Given the description of an element on the screen output the (x, y) to click on. 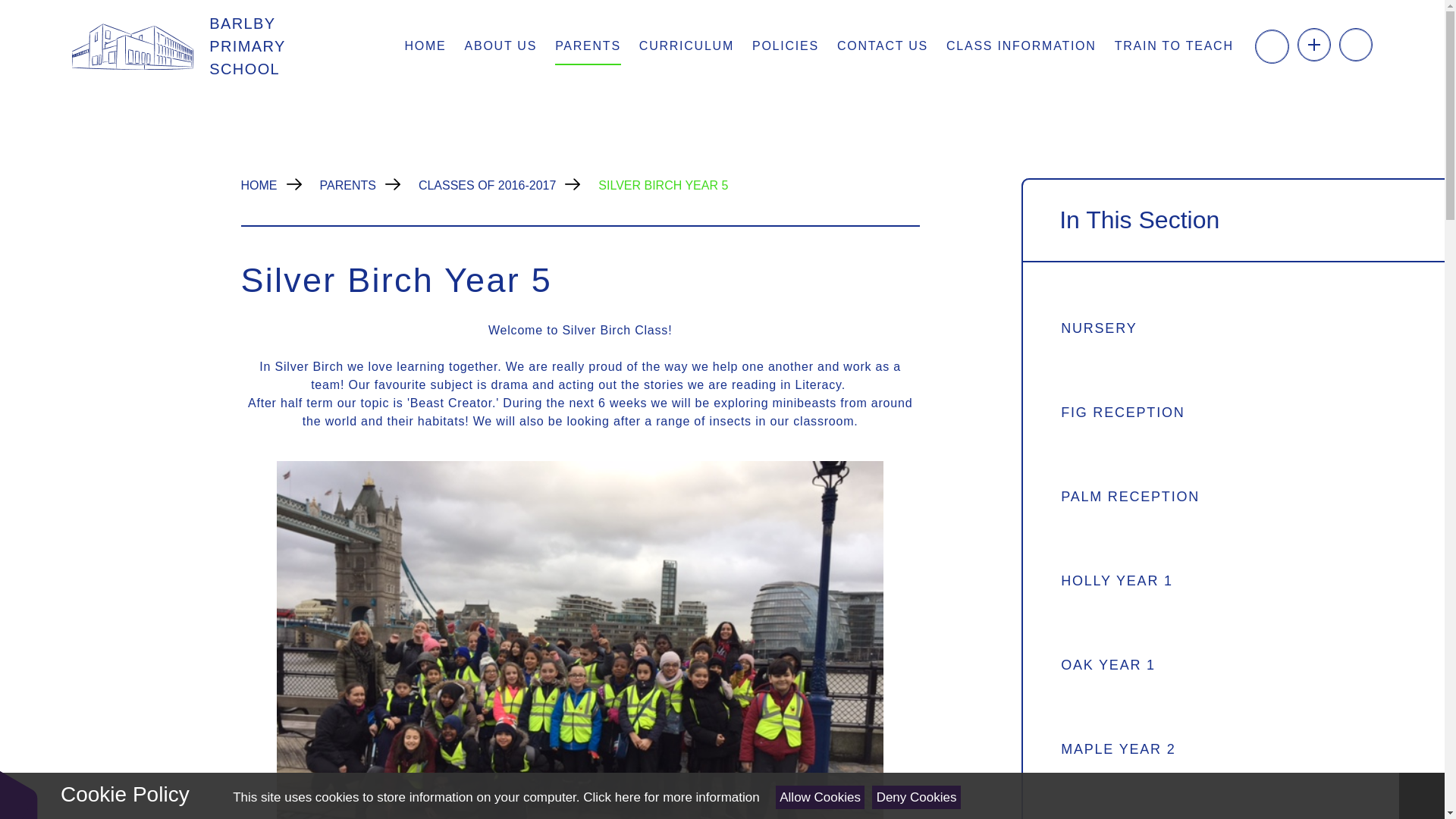
See cookie policy (670, 797)
PARENTS (588, 45)
Deny Cookies (915, 797)
Allow Cookies (820, 797)
ABOUT US (501, 45)
HOME (424, 45)
